Given the description of an element on the screen output the (x, y) to click on. 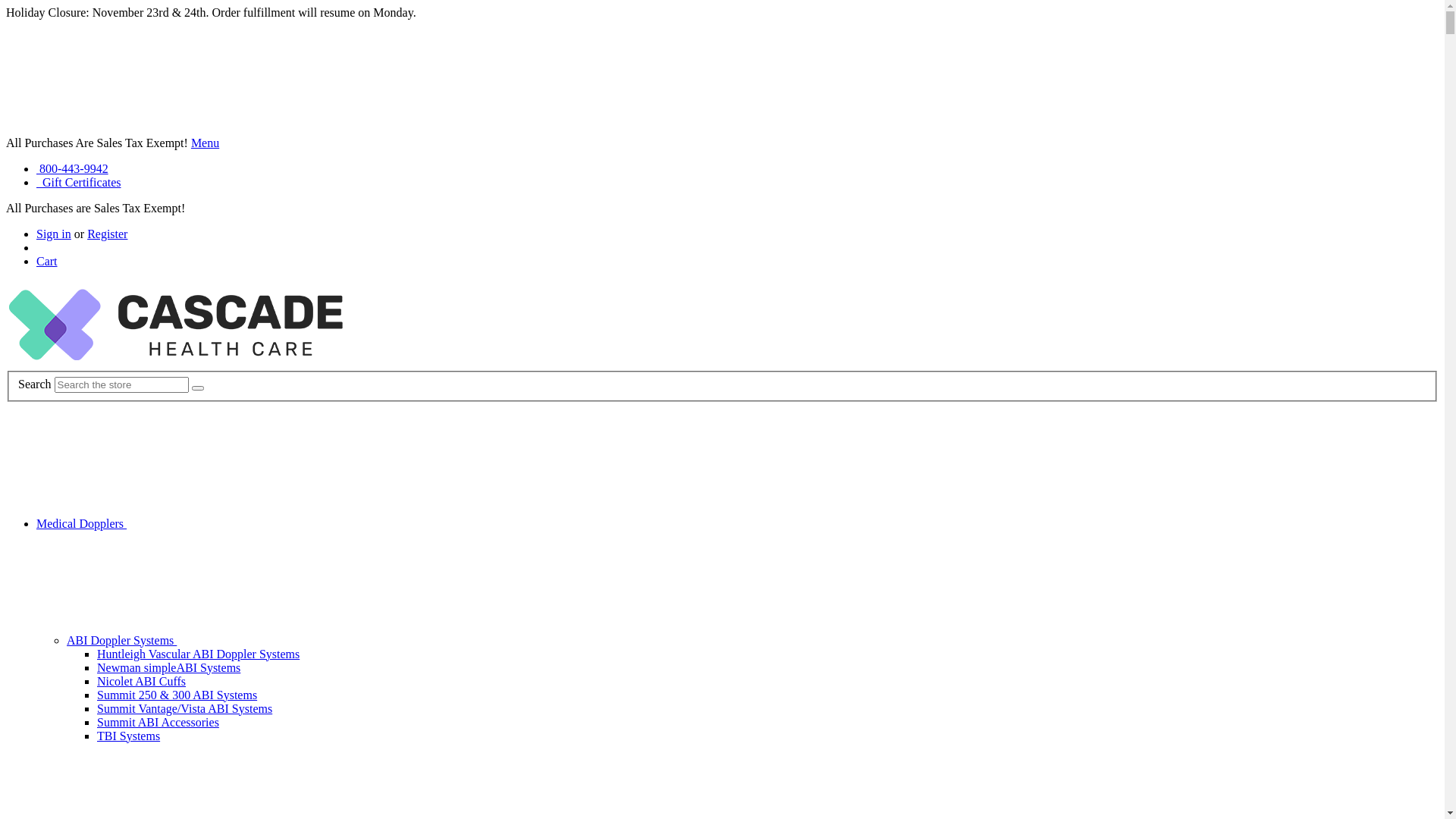
TBI Systems Element type: text (128, 735)
 800-443-9942 Element type: text (72, 168)
Summit ABI Accessories Element type: text (158, 721)
Medical Dopplers Element type: text (195, 523)
Menu Element type: text (205, 142)
Newman simpleABI Systems Element type: text (168, 667)
Cart Element type: text (46, 260)
ABI Doppler Systems Element type: text (235, 639)
  Gift Certificates Element type: text (78, 181)
Summit Vantage/Vista ABI Systems Element type: text (184, 708)
Cascade Health Care Inc. Element type: hover (175, 323)
Nicolet ABI Cuffs Element type: text (141, 680)
Summit 250 & 300 ABI Systems Element type: text (177, 694)
Sign in Element type: text (53, 233)
Huntleigh Vascular ABI Doppler Systems Element type: text (198, 653)
Register Element type: text (107, 233)
